Given the description of an element on the screen output the (x, y) to click on. 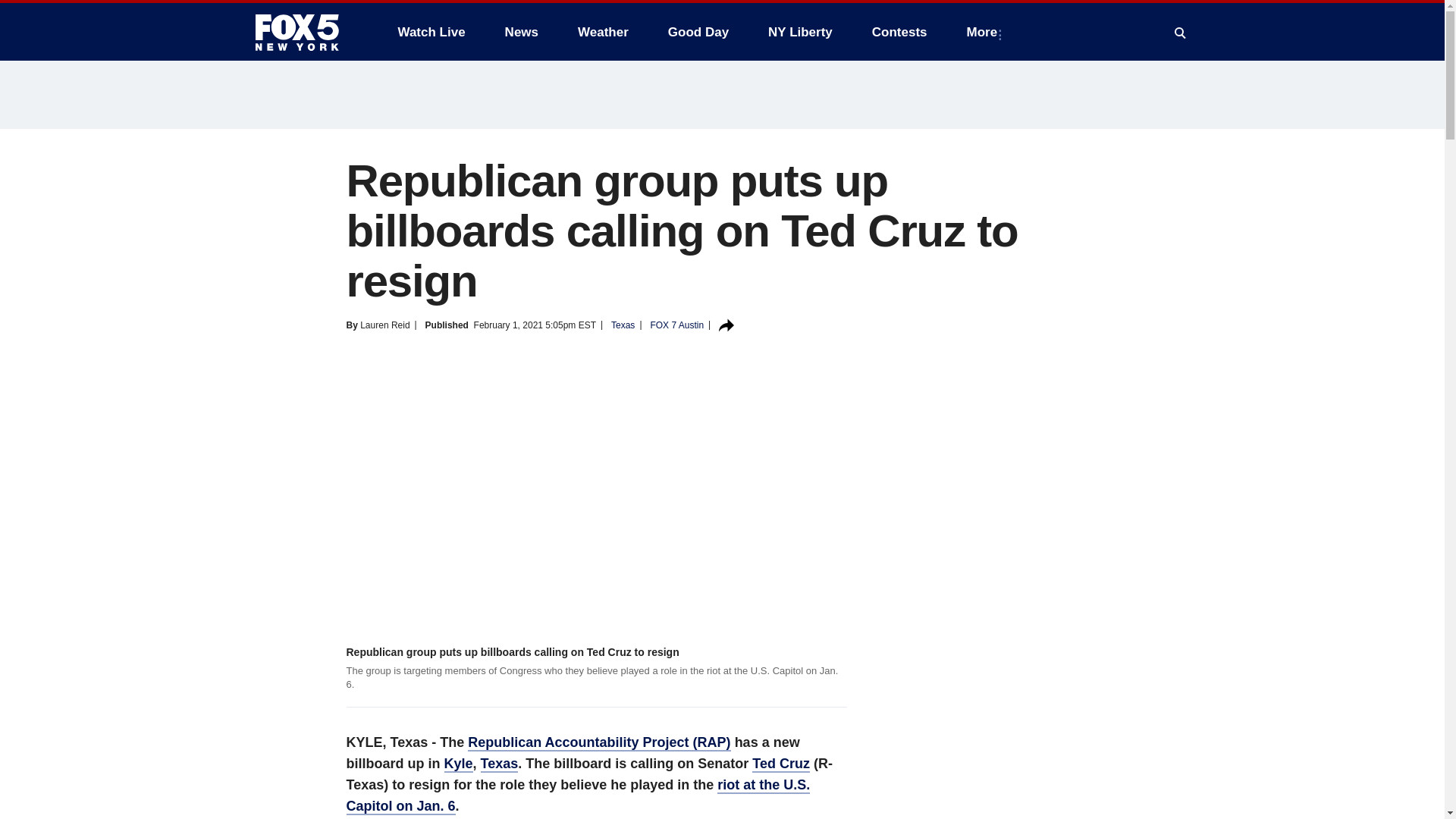
Good Day (698, 32)
Watch Live (431, 32)
News (521, 32)
More (985, 32)
Weather (603, 32)
NY Liberty (799, 32)
Contests (899, 32)
